Given the description of an element on the screen output the (x, y) to click on. 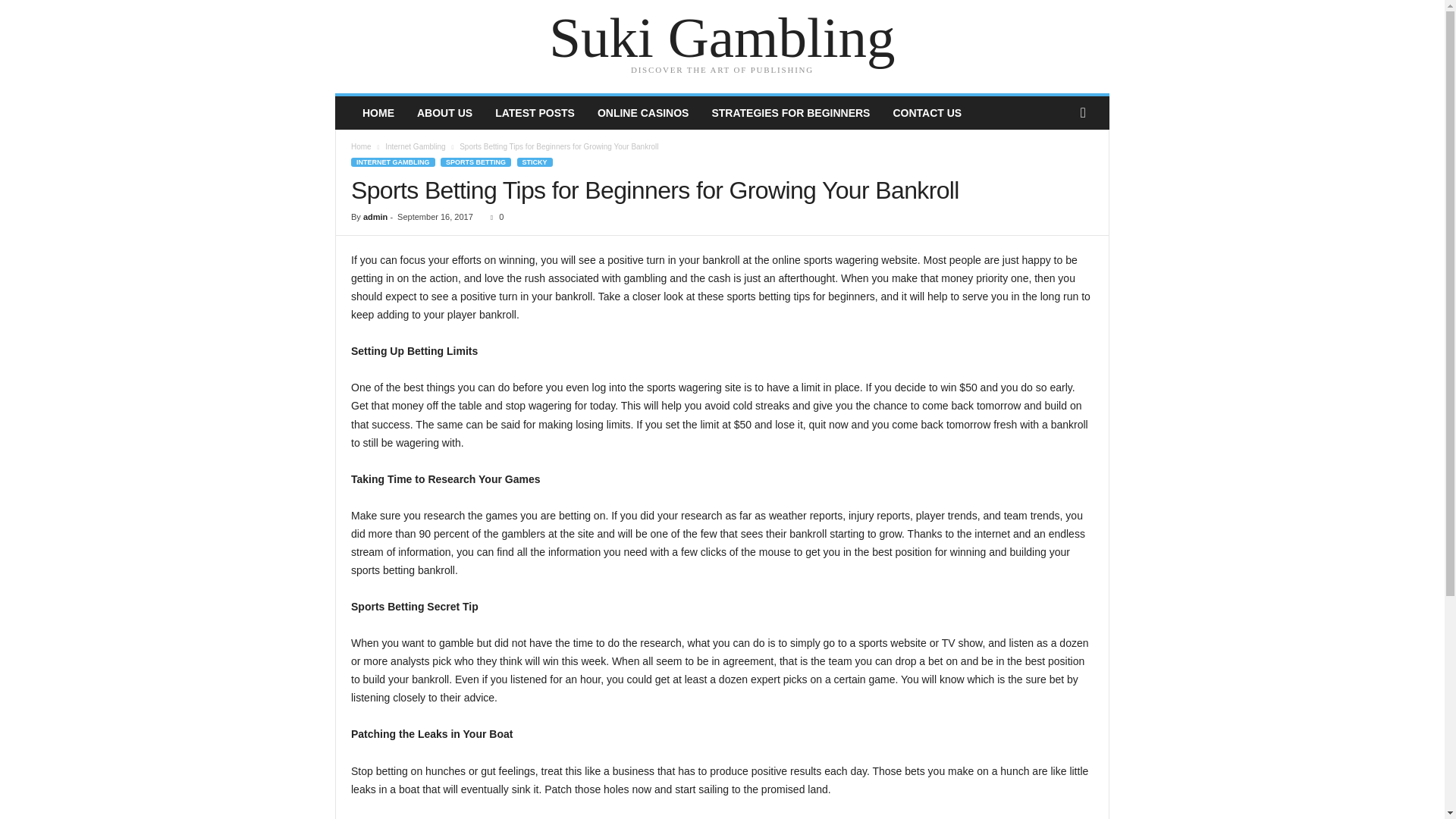
ONLINE CASINOS (643, 112)
STICKY (534, 162)
STRATEGIES FOR BEGINNERS (790, 112)
INTERNET GAMBLING (392, 162)
Home (360, 146)
Internet Gambling (415, 146)
LATEST POSTS (534, 112)
admin (374, 216)
0 (493, 216)
SPORTS BETTING (476, 162)
